Given the description of an element on the screen output the (x, y) to click on. 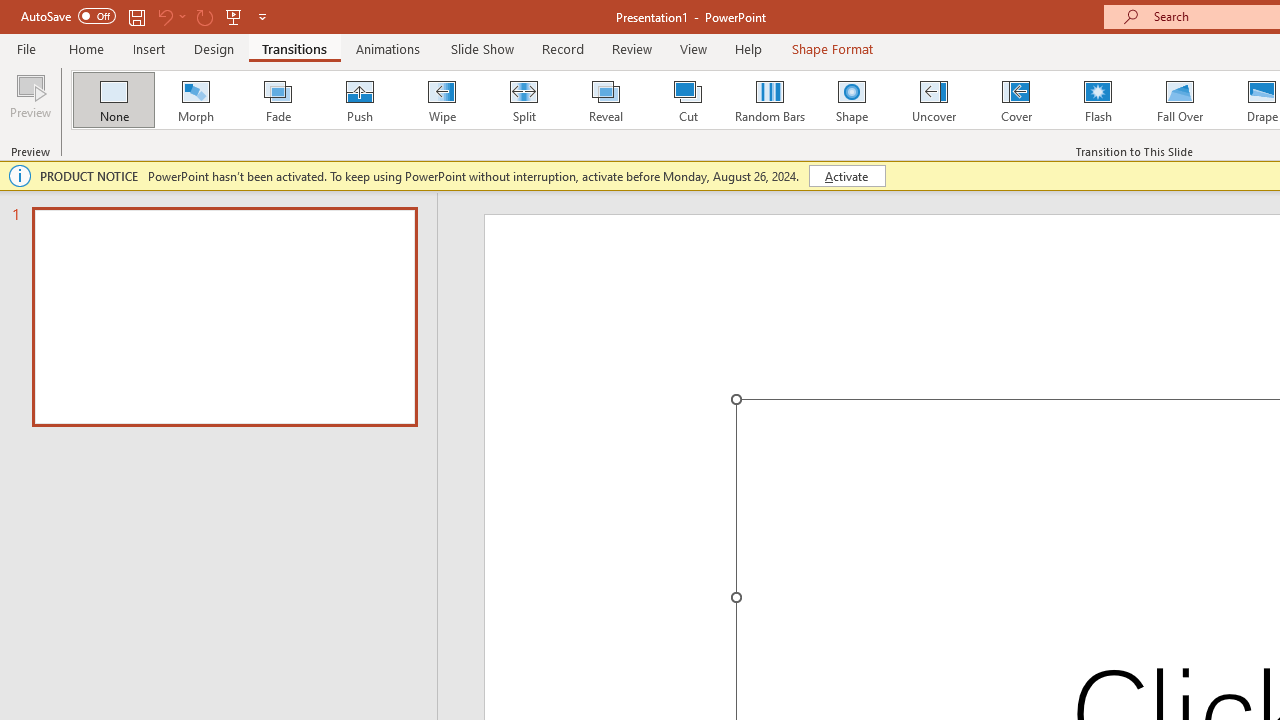
Uncover (934, 100)
Push (359, 100)
None (113, 100)
Split (523, 100)
Reveal (605, 100)
